Given the description of an element on the screen output the (x, y) to click on. 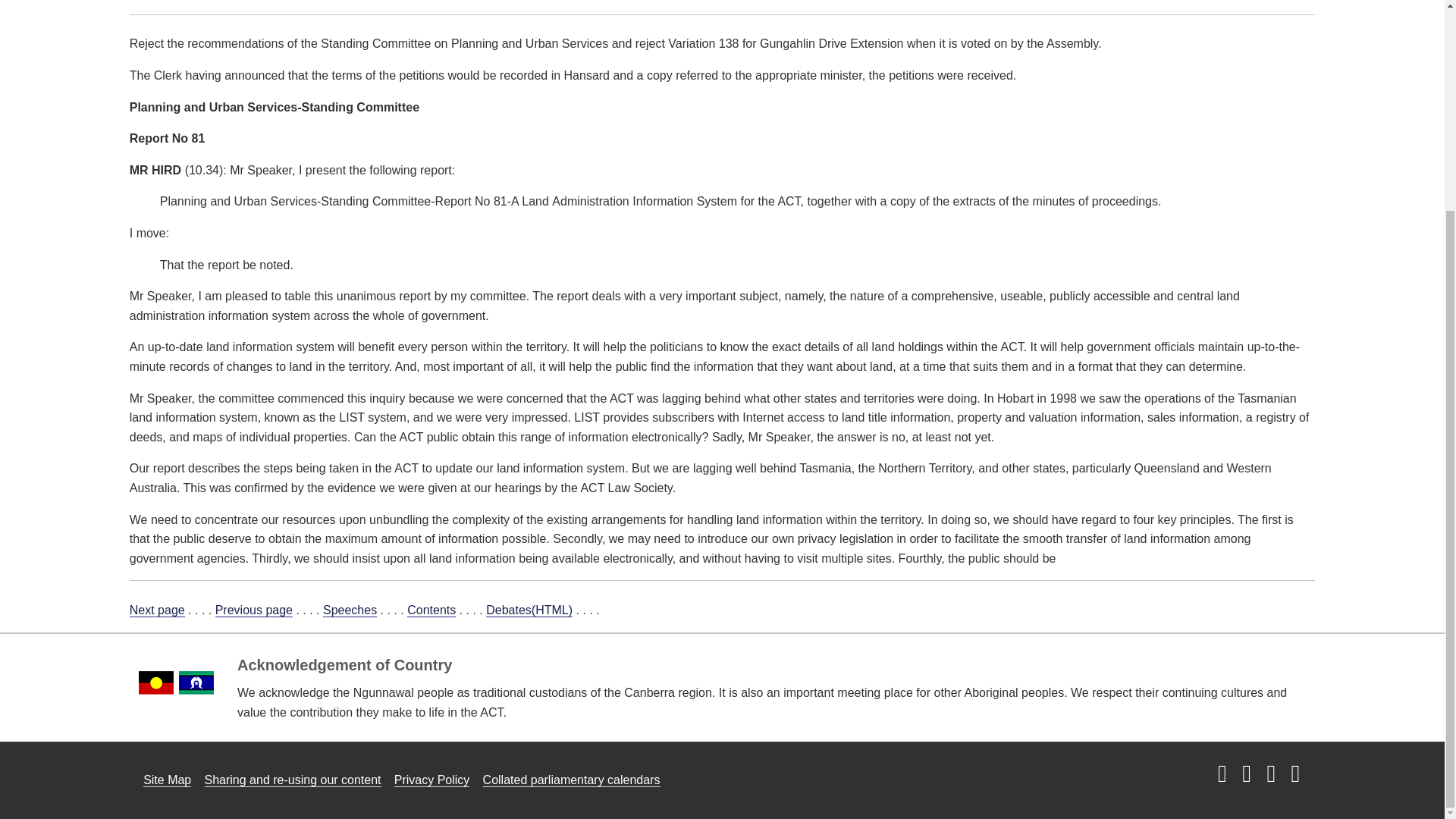
Link to Site Map (166, 780)
Sharing and re-using our content (293, 780)
Previous page (253, 610)
Speeches (350, 610)
Site Map (166, 780)
Collated parliamentary calendars (572, 780)
Privacy Policy (432, 780)
Link to Privacy Policy (432, 780)
Next page (156, 610)
Contents (431, 610)
